Given the description of an element on the screen output the (x, y) to click on. 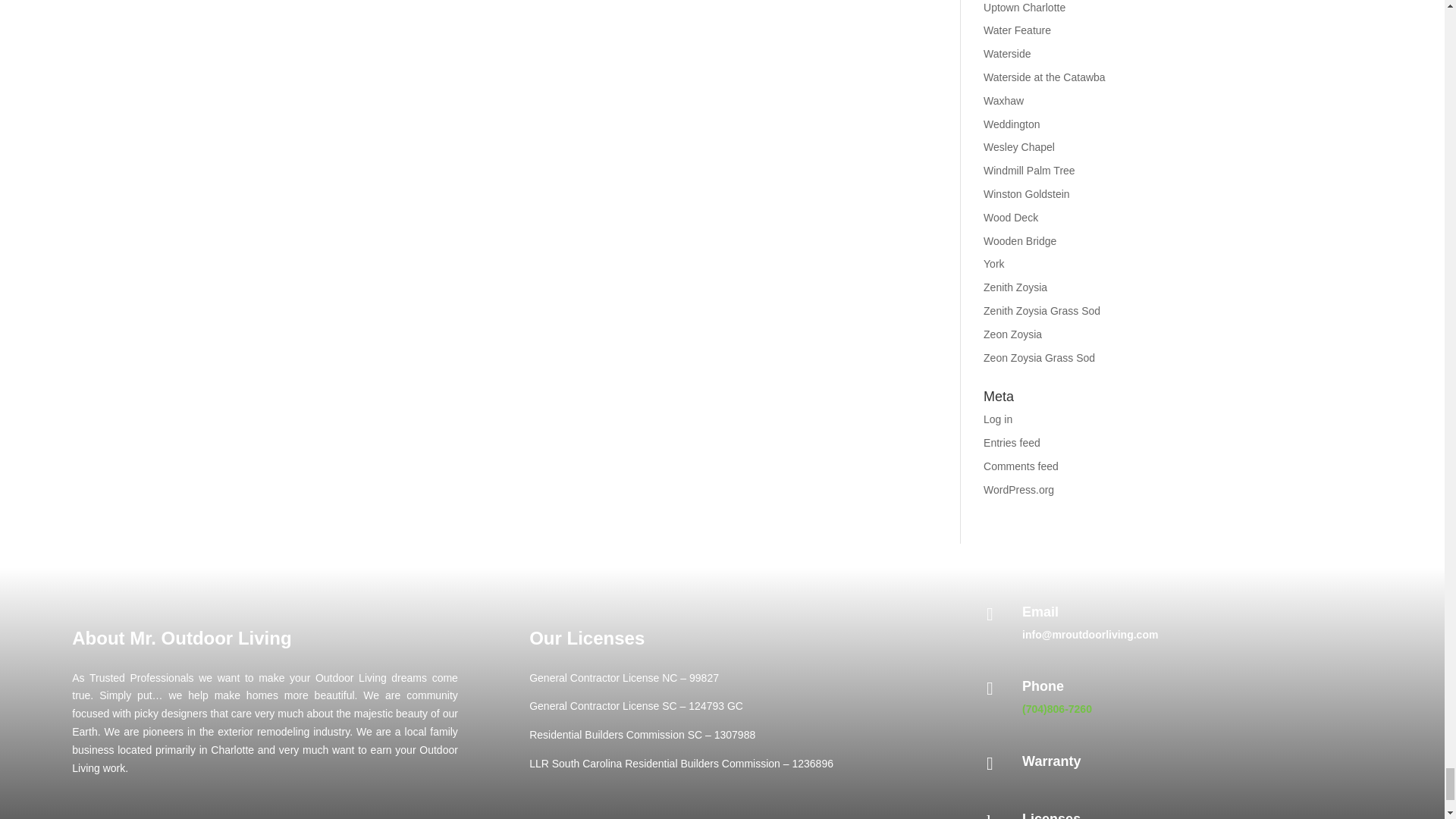
Follow on Instagram (265, 816)
Follow on Facebook (226, 816)
Follow on Youtube (304, 816)
